Given the description of an element on the screen output the (x, y) to click on. 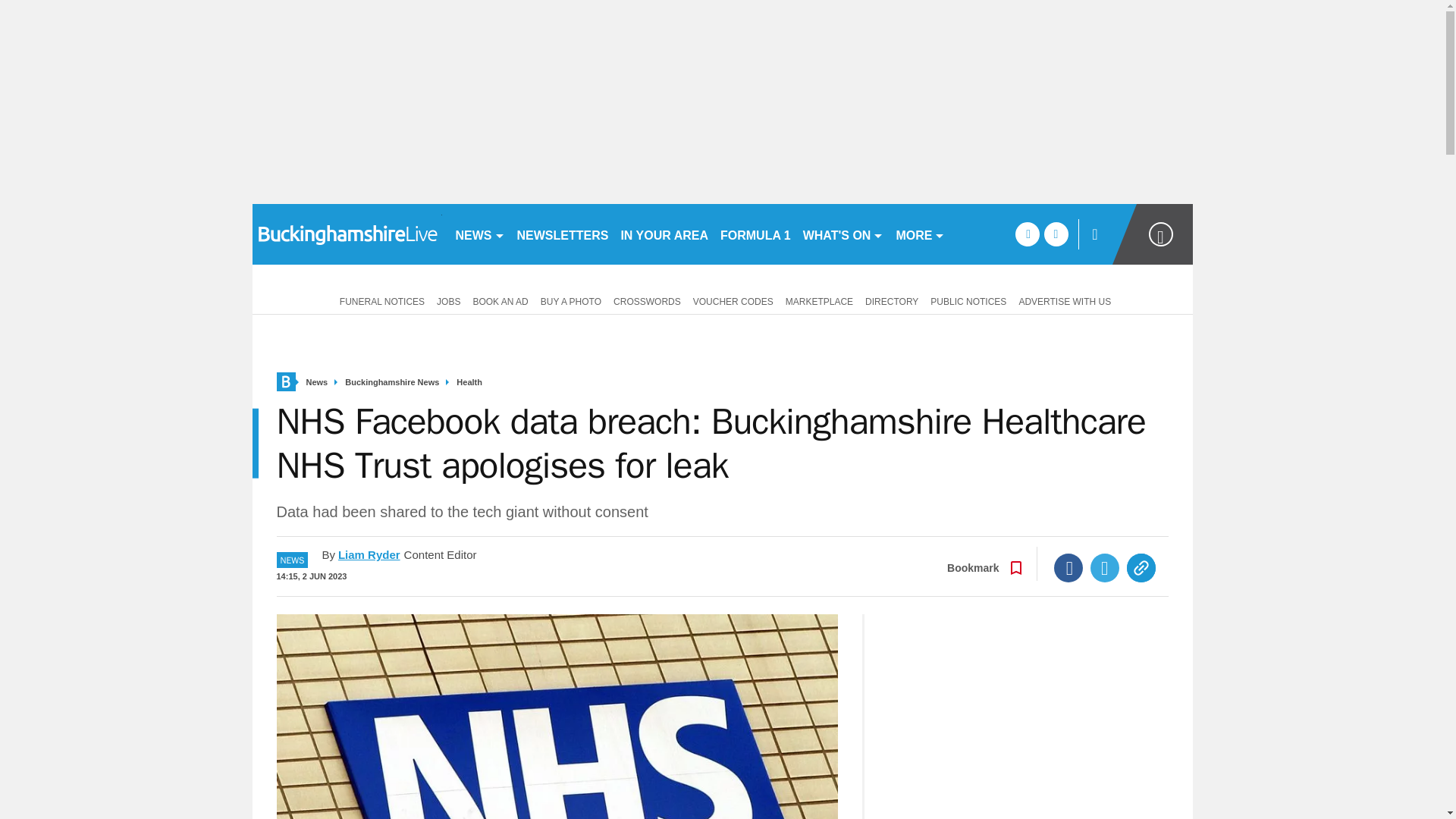
VOUCHER CODES (732, 300)
Health (469, 382)
Buckinghamshire News (392, 382)
NEWSLETTERS (562, 233)
BOOK AN AD (499, 300)
Facebook (1068, 567)
PUBLIC NOTICES (967, 300)
Twitter (1104, 567)
IN YOUR AREA (664, 233)
FUNERAL NOTICES (378, 300)
